Given the description of an element on the screen output the (x, y) to click on. 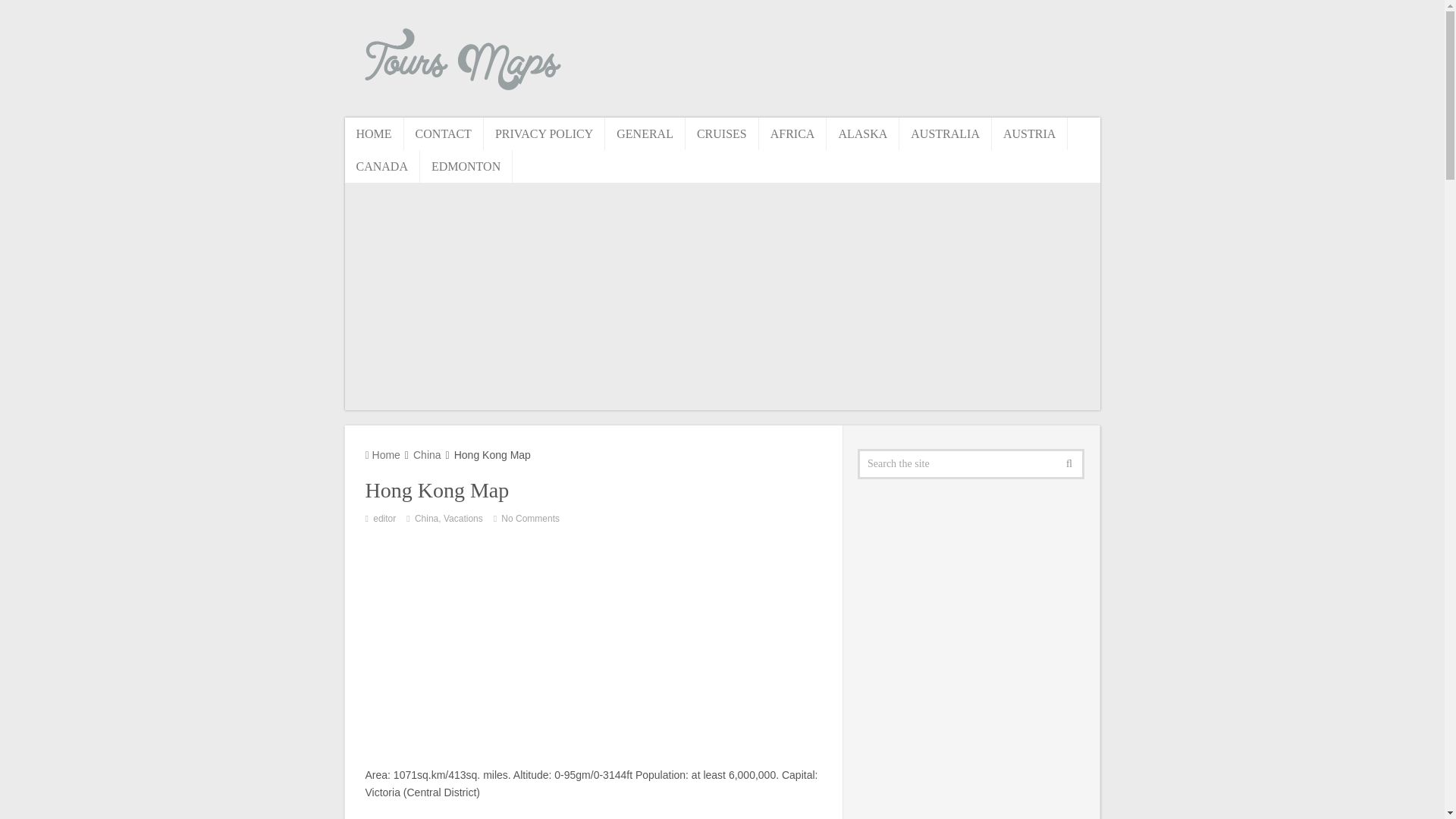
CONTACT (443, 133)
EDMONTON (466, 165)
No Comments (529, 518)
editor (384, 518)
ALASKA (863, 133)
Home (382, 454)
AUSTRIA (1029, 133)
AFRICA (792, 133)
HOME (373, 133)
CANADA (381, 165)
View all posts in Vacations (463, 518)
PRIVACY POLICY (544, 133)
Vacations (463, 518)
Advertisement (593, 644)
